Given the description of an element on the screen output the (x, y) to click on. 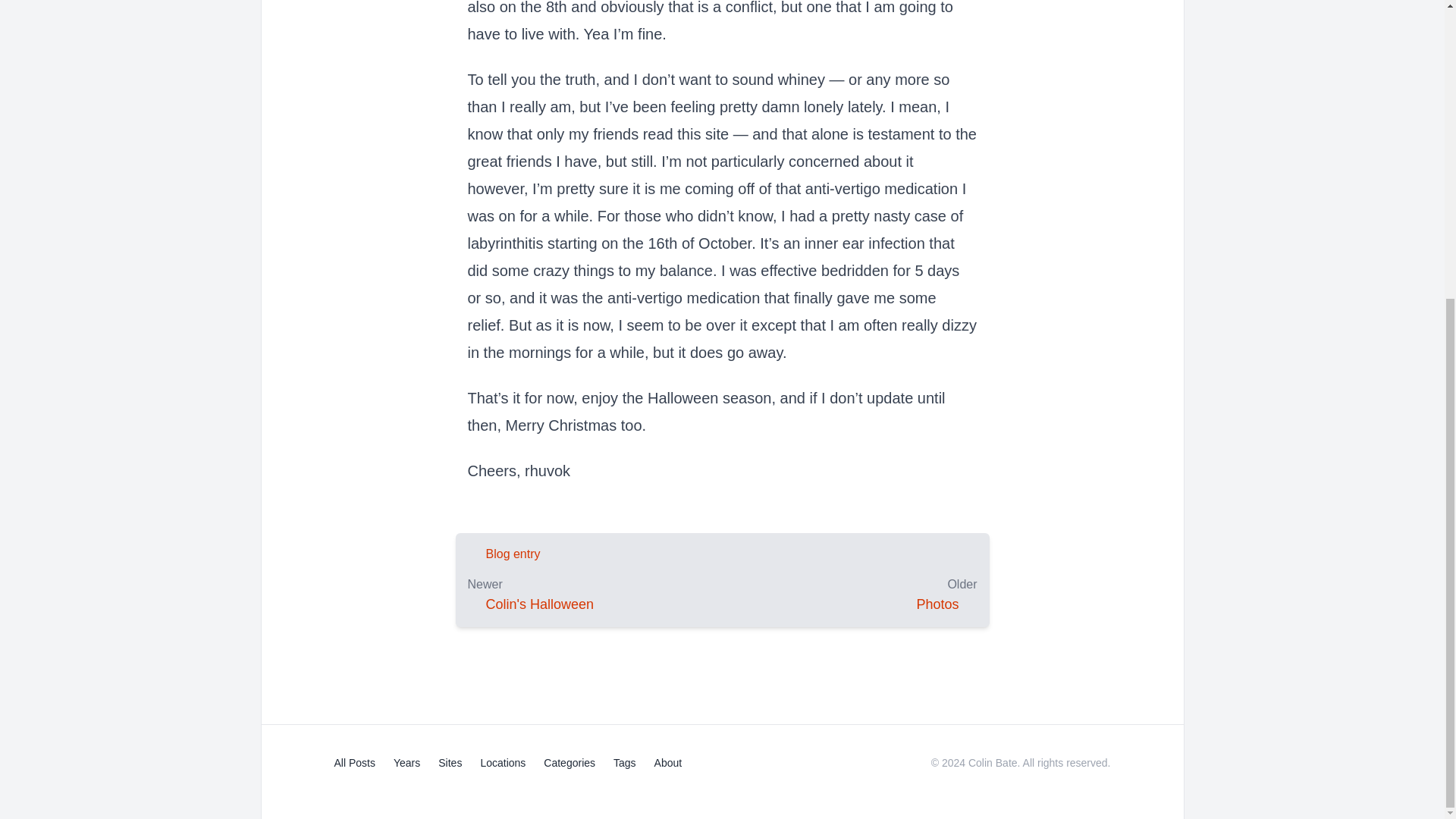
Locations (502, 762)
Years (406, 762)
All Posts (353, 762)
Sites (449, 762)
Categories (569, 762)
Blog entry (512, 553)
Tags (624, 762)
About (667, 762)
Photos (936, 604)
Colin's Halloween (539, 604)
